Given the description of an element on the screen output the (x, y) to click on. 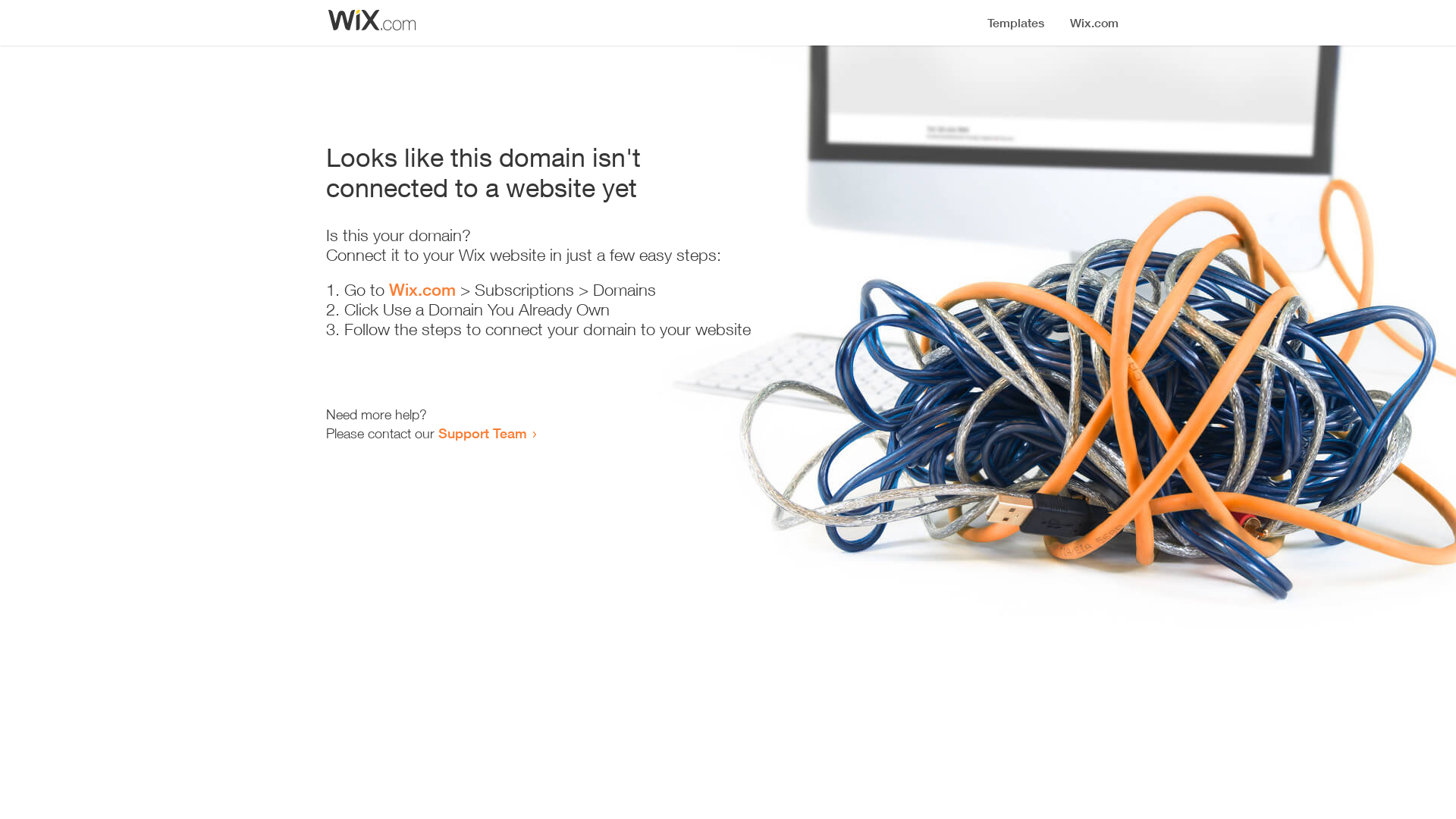
Support Team Element type: text (482, 432)
Wix.com Element type: text (422, 289)
